Given the description of an element on the screen output the (x, y) to click on. 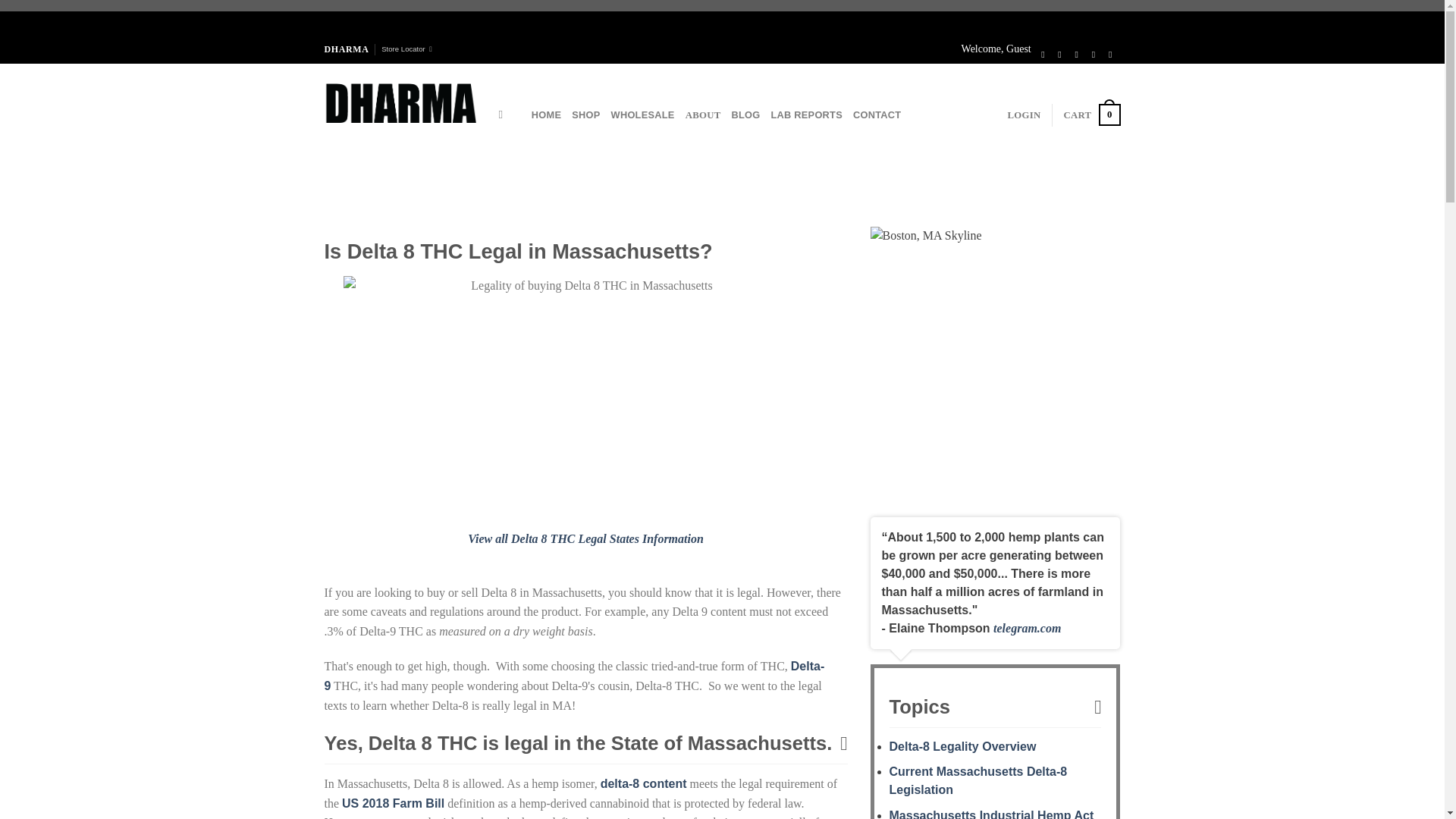
US 2018 Farm Bill (393, 802)
Store Locator   (405, 49)
Open Cart (1090, 115)
WHOLESALE (643, 114)
delta-8 content (643, 783)
Delta-9 (574, 676)
LAB REPORTS (806, 114)
ABOUT (1090, 115)
LOGIN (702, 114)
View all Delta 8 THC Legal States Information (1024, 114)
CONTACT (585, 538)
